Given the description of an element on the screen output the (x, y) to click on. 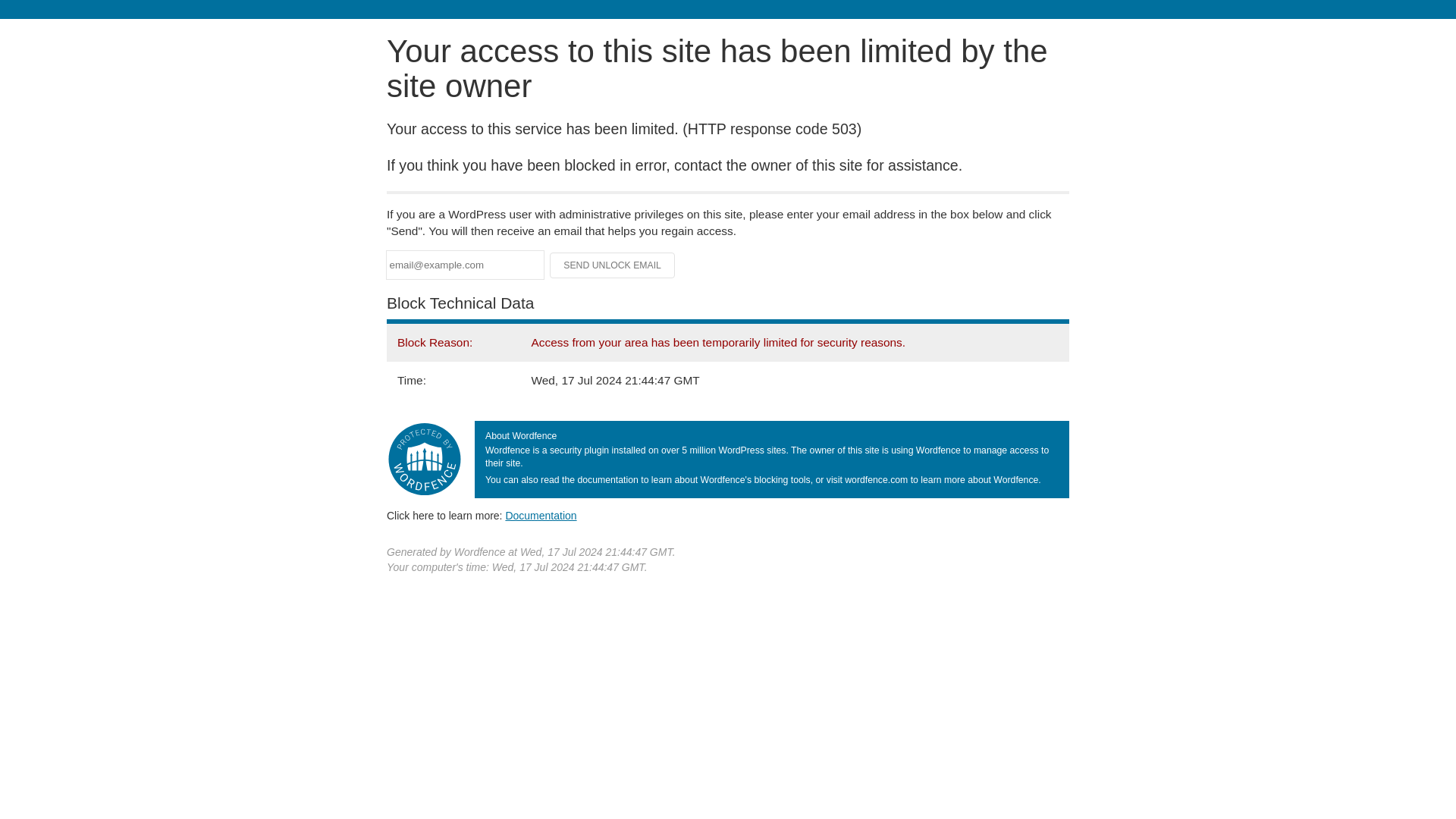
Send Unlock Email (612, 265)
Documentation (540, 515)
Send Unlock Email (612, 265)
